Given the description of an element on the screen output the (x, y) to click on. 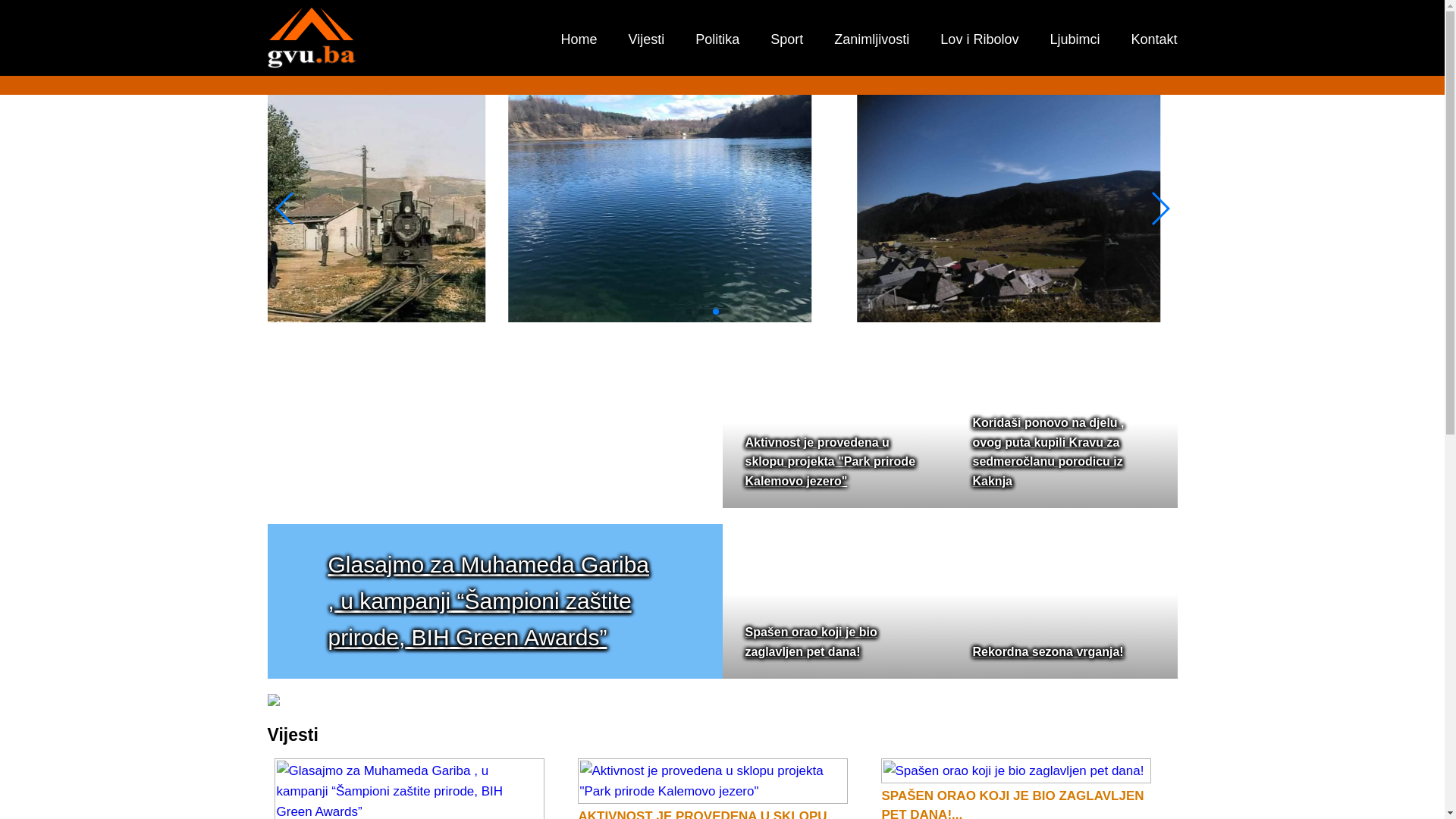
Ljubimci Element type: text (1074, 38)
Rekordna sezona vrganja! Element type: text (1047, 651)
Vijesti Element type: text (646, 38)
Politika Element type: text (717, 38)
Kontakt Element type: text (1153, 38)
Lov i Ribolov Element type: text (979, 38)
Zanimljivosti Element type: text (871, 38)
Home Element type: text (579, 38)
Sport Element type: text (786, 38)
